Given the description of an element on the screen output the (x, y) to click on. 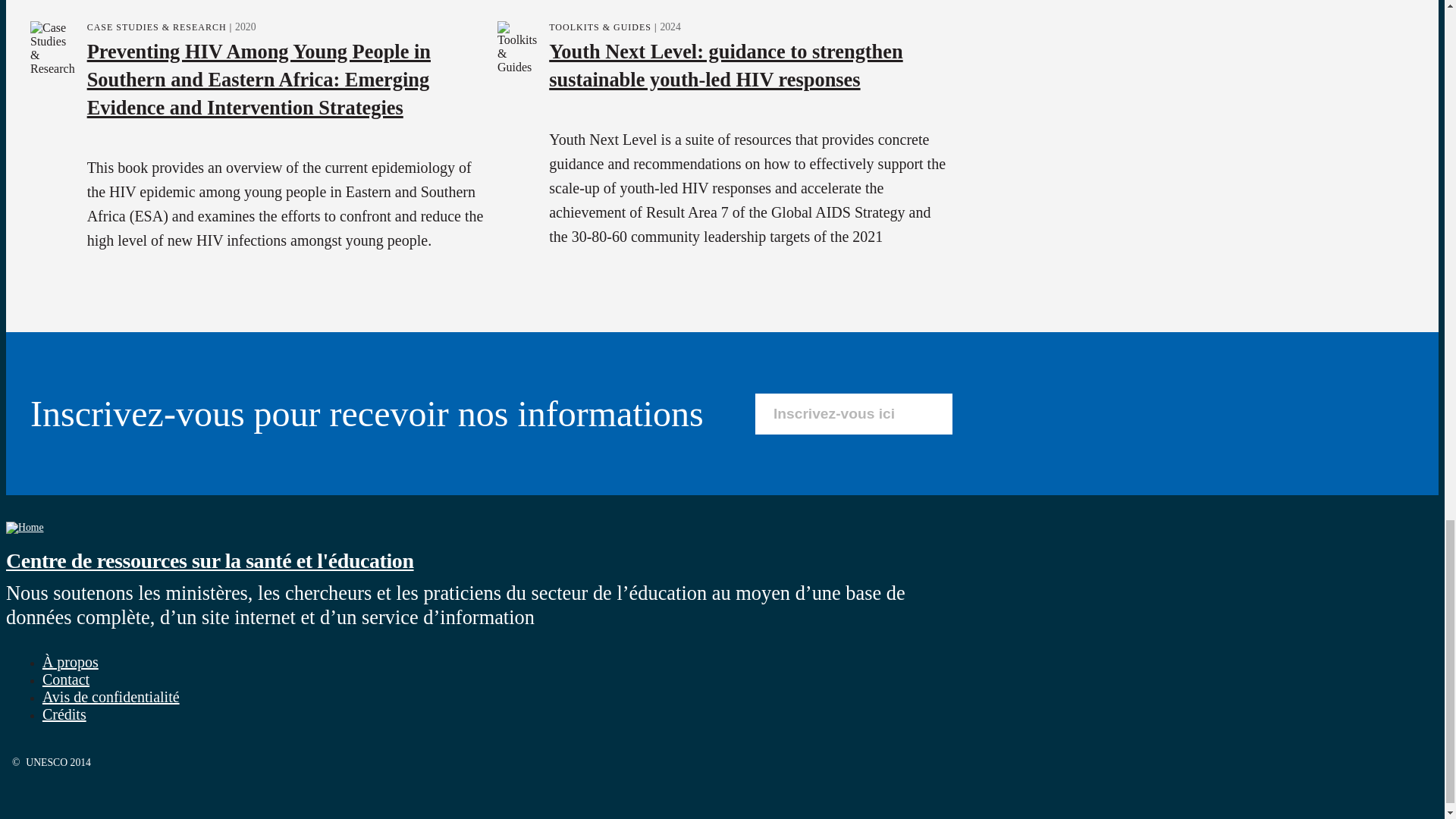
Home (209, 560)
Home (24, 527)
